Given the description of an element on the screen output the (x, y) to click on. 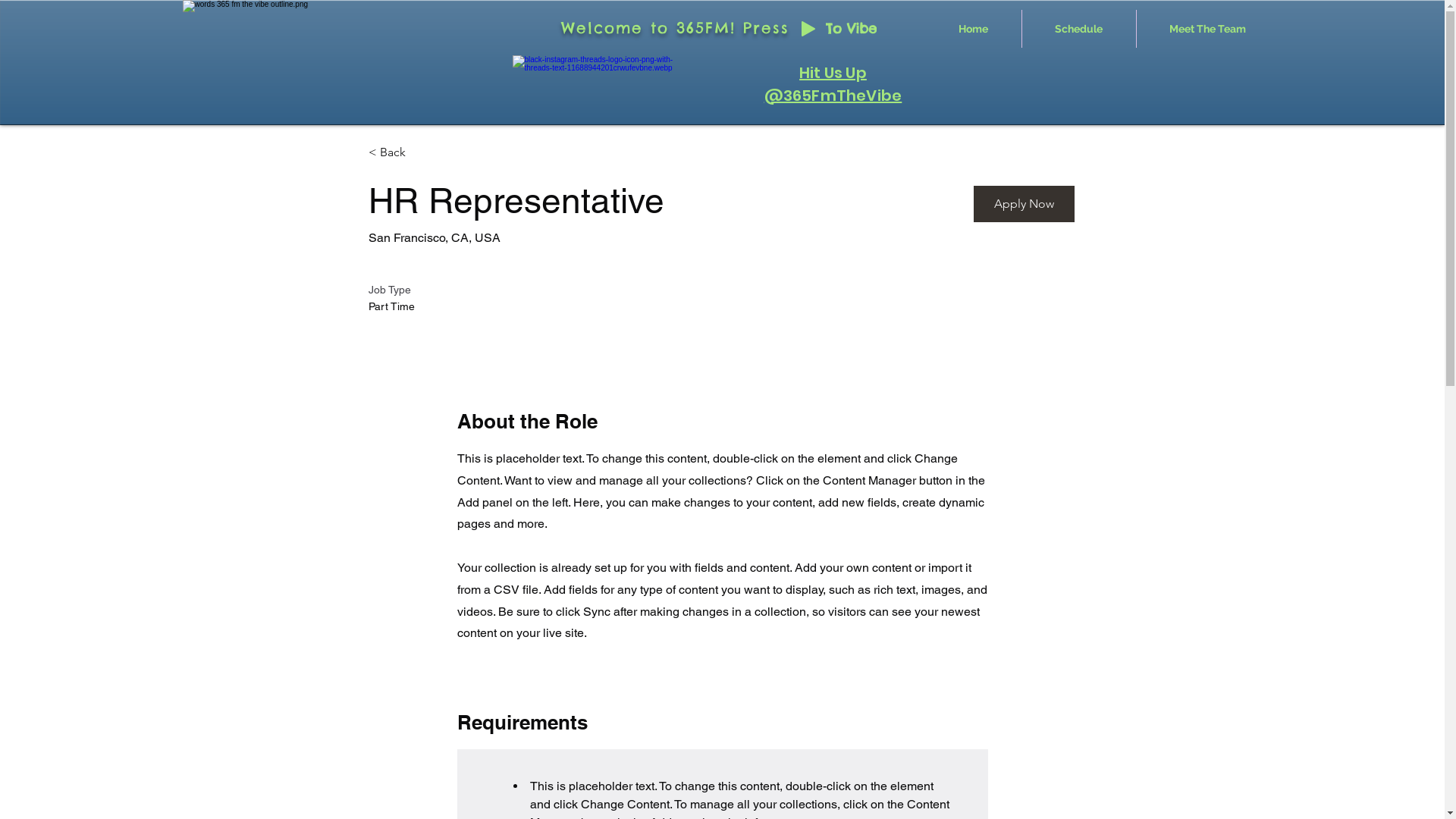
Meet The Team Element type: text (1206, 28)
Hit Us Up
@365FmTheVibe Element type: text (833, 84)
instagram-threads-logo-white-logo-icon-h Element type: hover (604, 84)
Schedule Element type: text (1078, 28)
Home Element type: text (972, 28)
< Back Element type: text (422, 152)
